Given the description of an element on the screen output the (x, y) to click on. 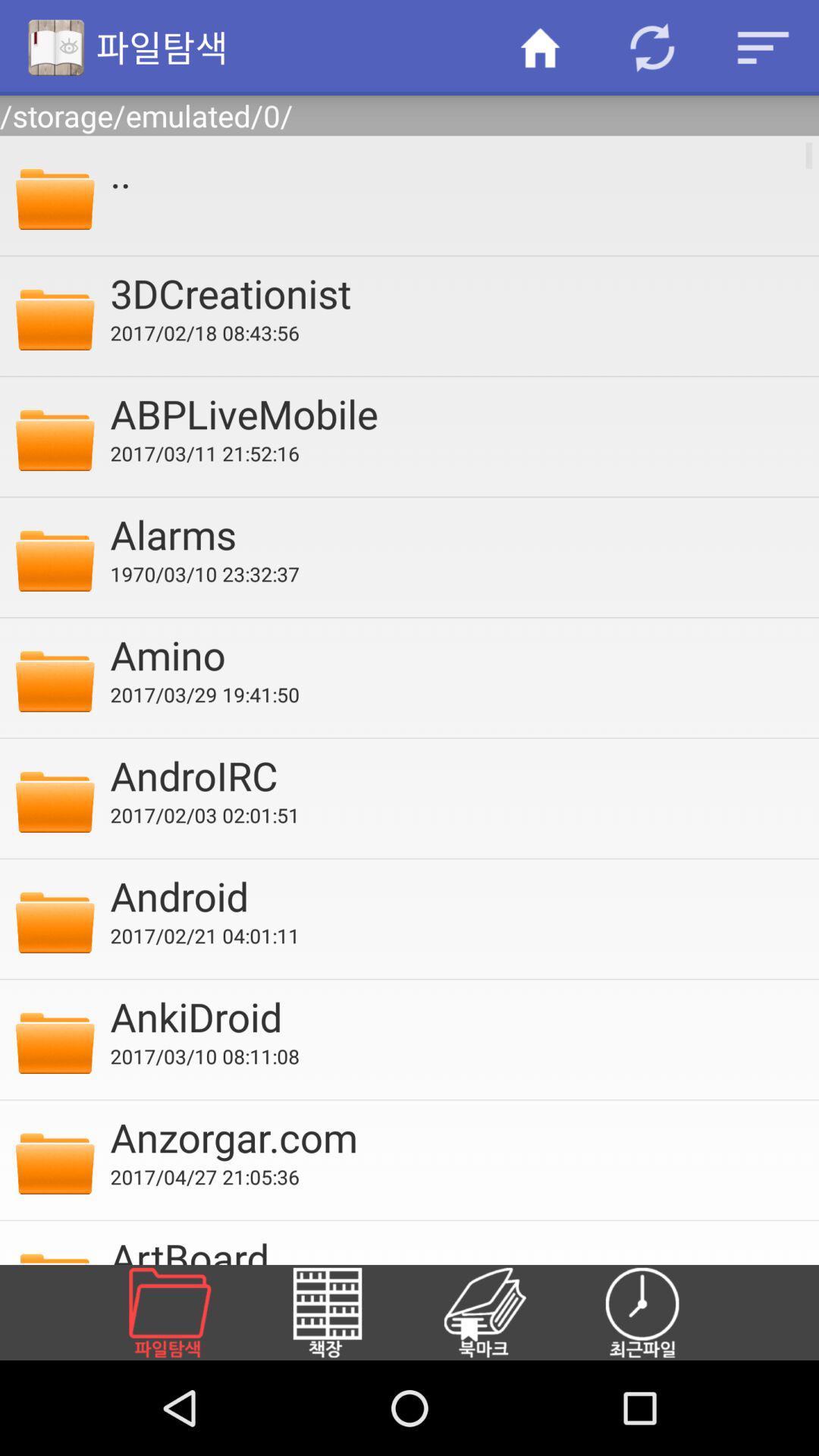
open the icon below artboard app (502, 1312)
